Given the description of an element on the screen output the (x, y) to click on. 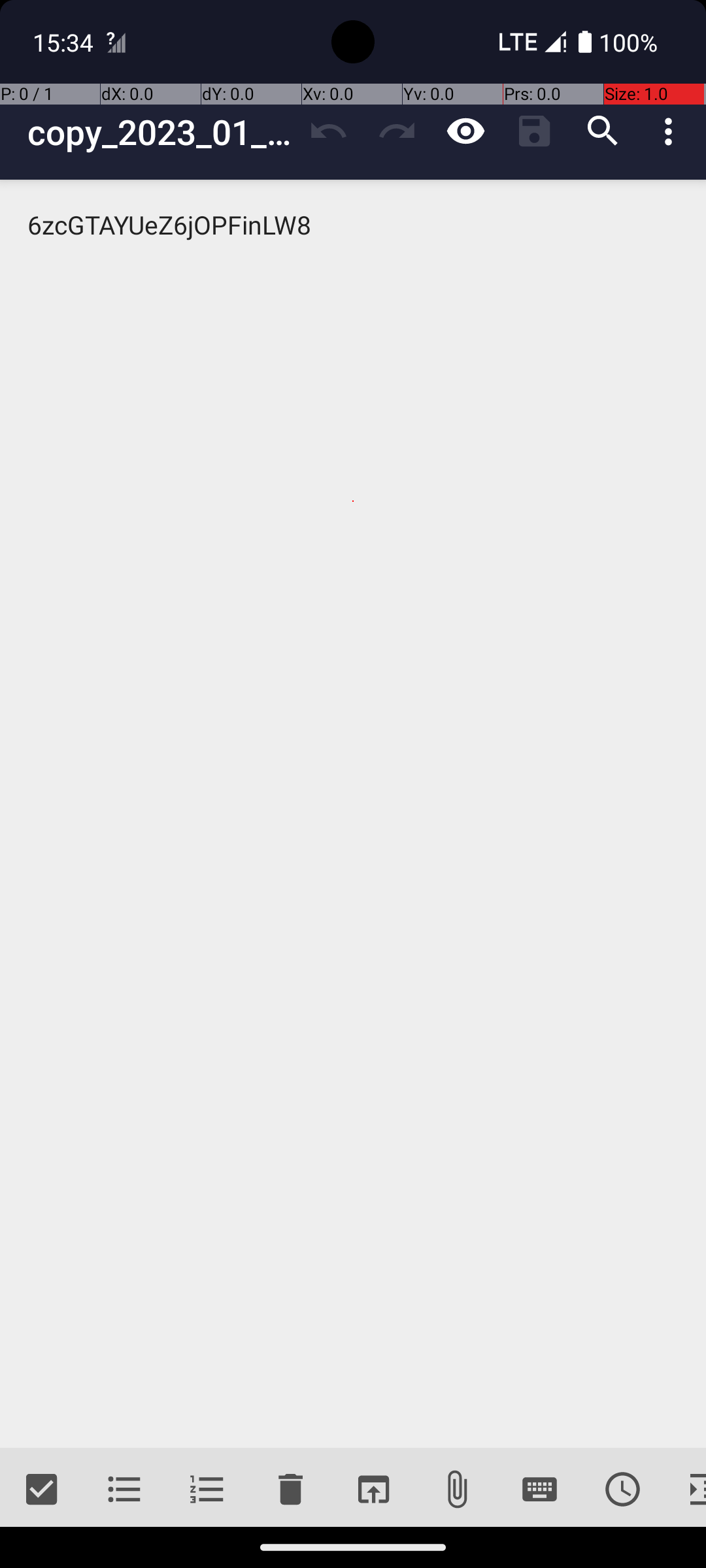
copy_2023_01_11_pretty_koala Element type: android.widget.TextView (160, 131)
6zcGTAYUeZ6jOPFinLW8
 Element type: android.widget.EditText (353, 813)
